Given the description of an element on the screen output the (x, y) to click on. 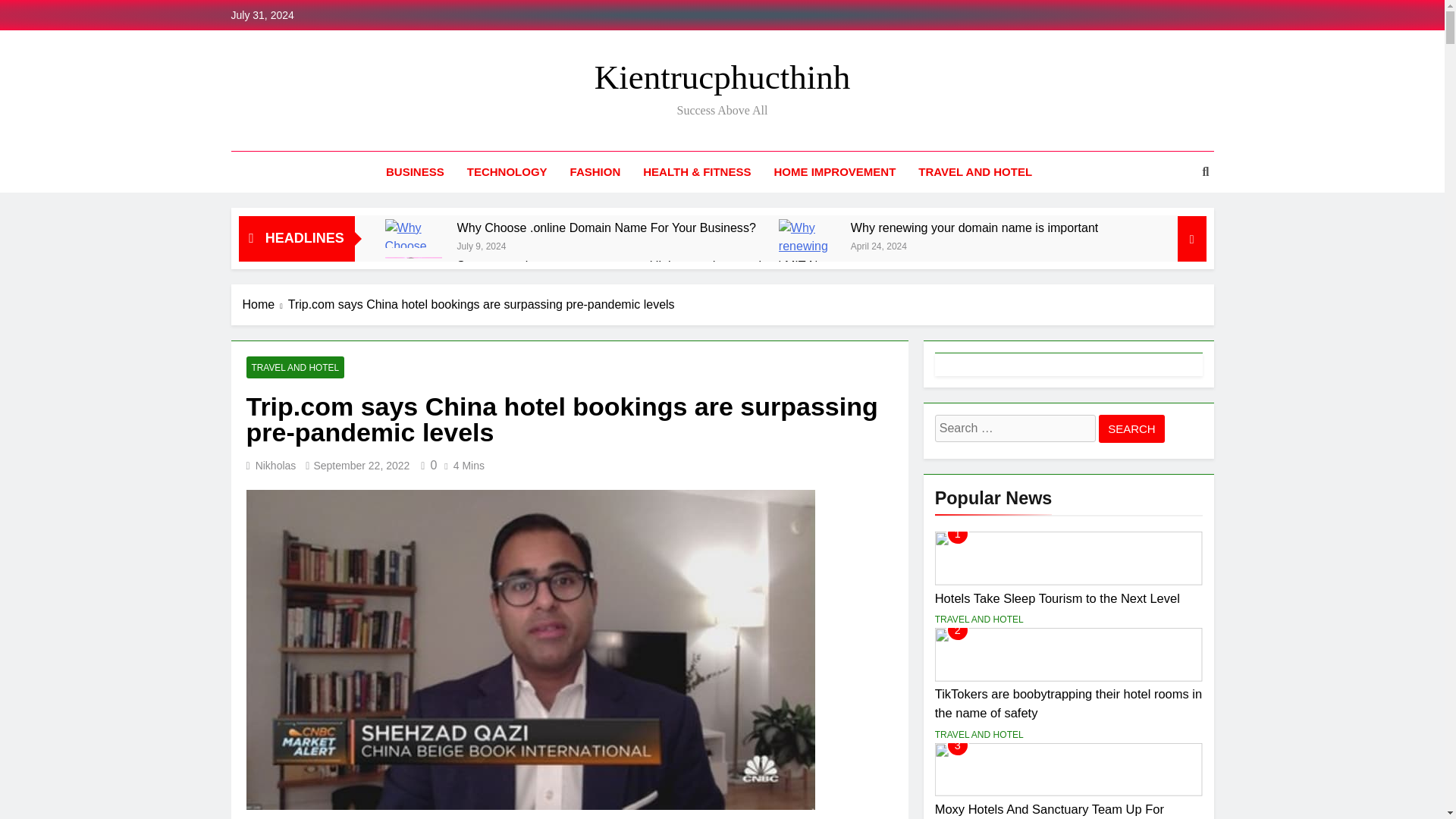
TRAVEL AND HOTEL (975, 171)
July 9, 2024 (481, 245)
Why renewing your domain name is important (973, 227)
April 24, 2024 (878, 245)
September 22, 2022 (361, 465)
FASHION (595, 171)
Home (265, 304)
Nikholas (276, 465)
TRAVEL AND HOTEL (294, 367)
Why Choose .online Domain Name For Your Business? (413, 233)
HOME IMPROVEMENT (834, 171)
Search (1131, 428)
TECHNOLOGY (507, 171)
BUSINESS (414, 171)
Why Choose .online Domain Name For Your Business? (606, 227)
